Given the description of an element on the screen output the (x, y) to click on. 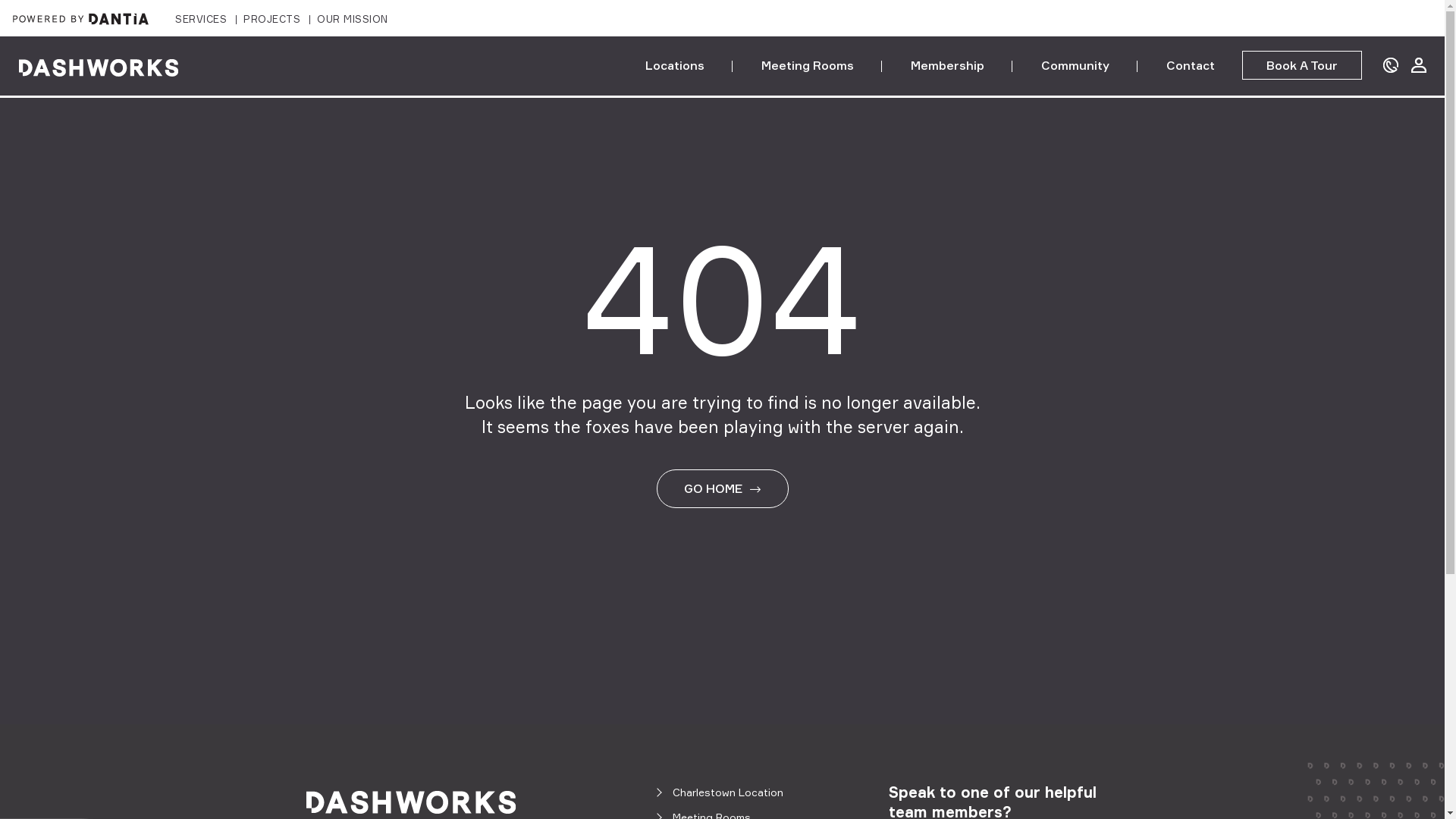
Call Element type: text (1390, 64)
GO HOME Element type: text (722, 488)
PROJECTS Element type: text (271, 19)
Contact Element type: text (1190, 65)
OUR MISSION Element type: text (352, 19)
User Element type: text (1418, 64)
Locations Element type: text (674, 65)
Membership Element type: text (947, 65)
Charlestown Location Element type: text (727, 792)
SERVICES Element type: text (200, 19)
Meeting Rooms Element type: text (807, 65)
Book A Tour Element type: text (1301, 64)
Community Element type: text (1075, 65)
